Given the description of an element on the screen output the (x, y) to click on. 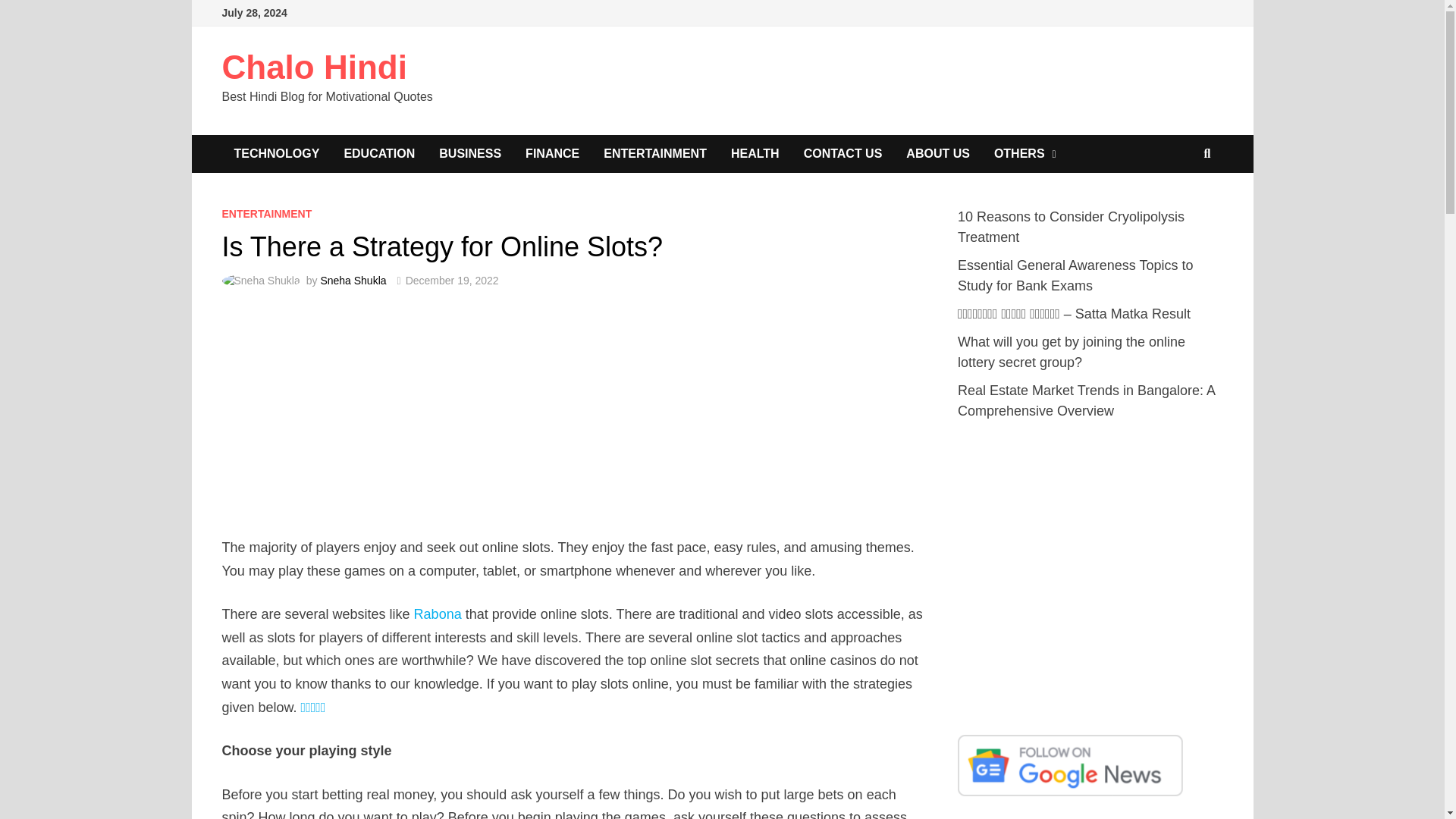
ENTERTAINMENT (655, 153)
December 19, 2022 (452, 280)
ENTERTAINMENT (266, 214)
FINANCE (552, 153)
BUSINESS (469, 153)
CONTACT US (843, 153)
HEALTH (755, 153)
Rabona (437, 613)
Sneha Shukla (352, 280)
Advertisement (1090, 576)
Advertisement (573, 422)
Chalo Hindi (313, 66)
ABOUT US (937, 153)
EDUCATION (378, 153)
TECHNOLOGY (276, 153)
